Given the description of an element on the screen output the (x, y) to click on. 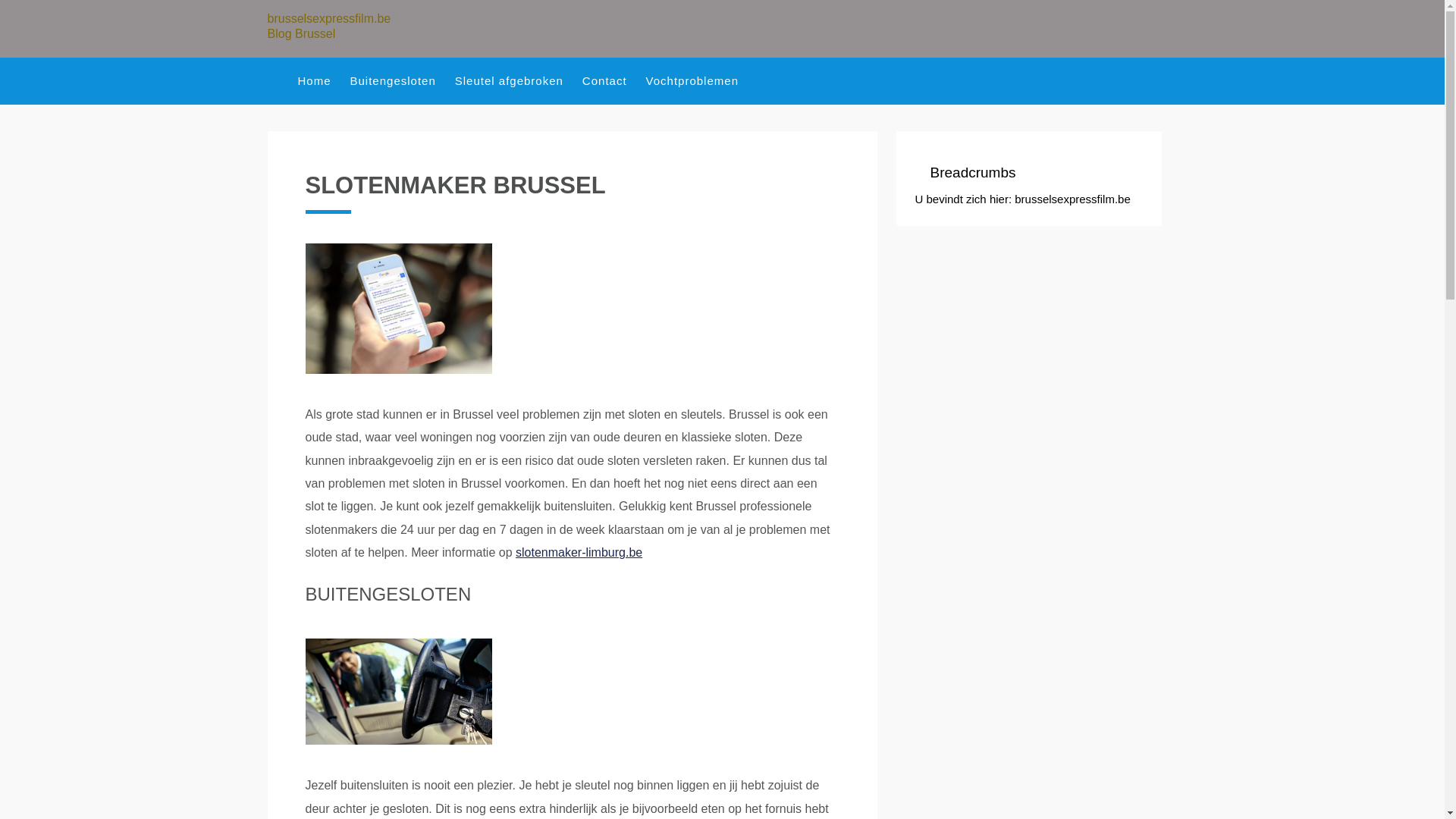
Buitengesloten Element type: text (402, 80)
Home Element type: text (323, 80)
Vochtproblemen Element type: text (701, 80)
Contact Element type: text (614, 80)
brusselsexpressfilm.be
Blog Brussel Element type: text (337, 25)
slotenmaker-limburg.be Element type: text (578, 552)
Sleutel afgebroken Element type: text (518, 80)
